Given the description of an element on the screen output the (x, y) to click on. 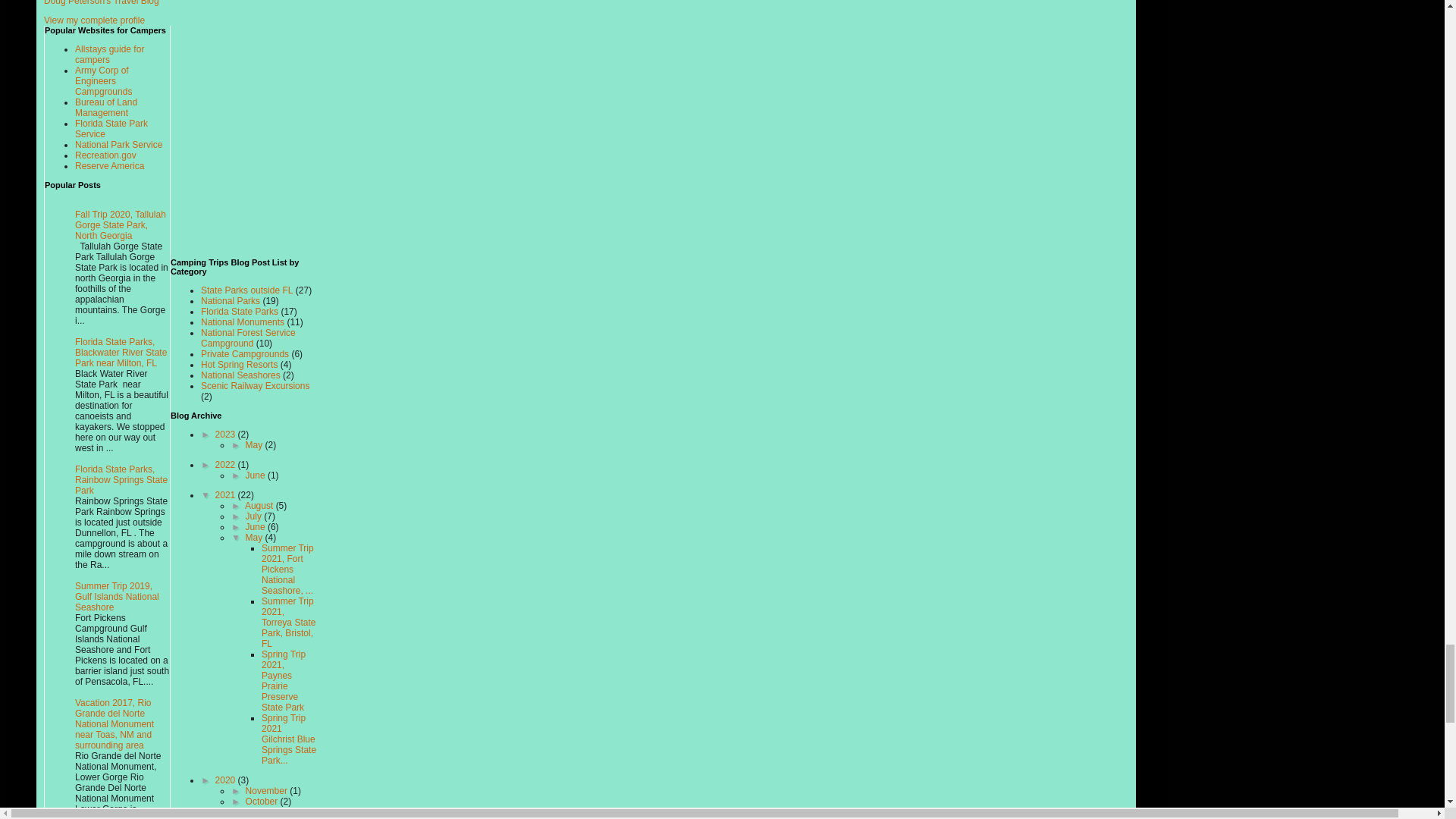
View my complete profile (93, 20)
Doug Peterson's Travel Blog (100, 2)
